Given the description of an element on the screen output the (x, y) to click on. 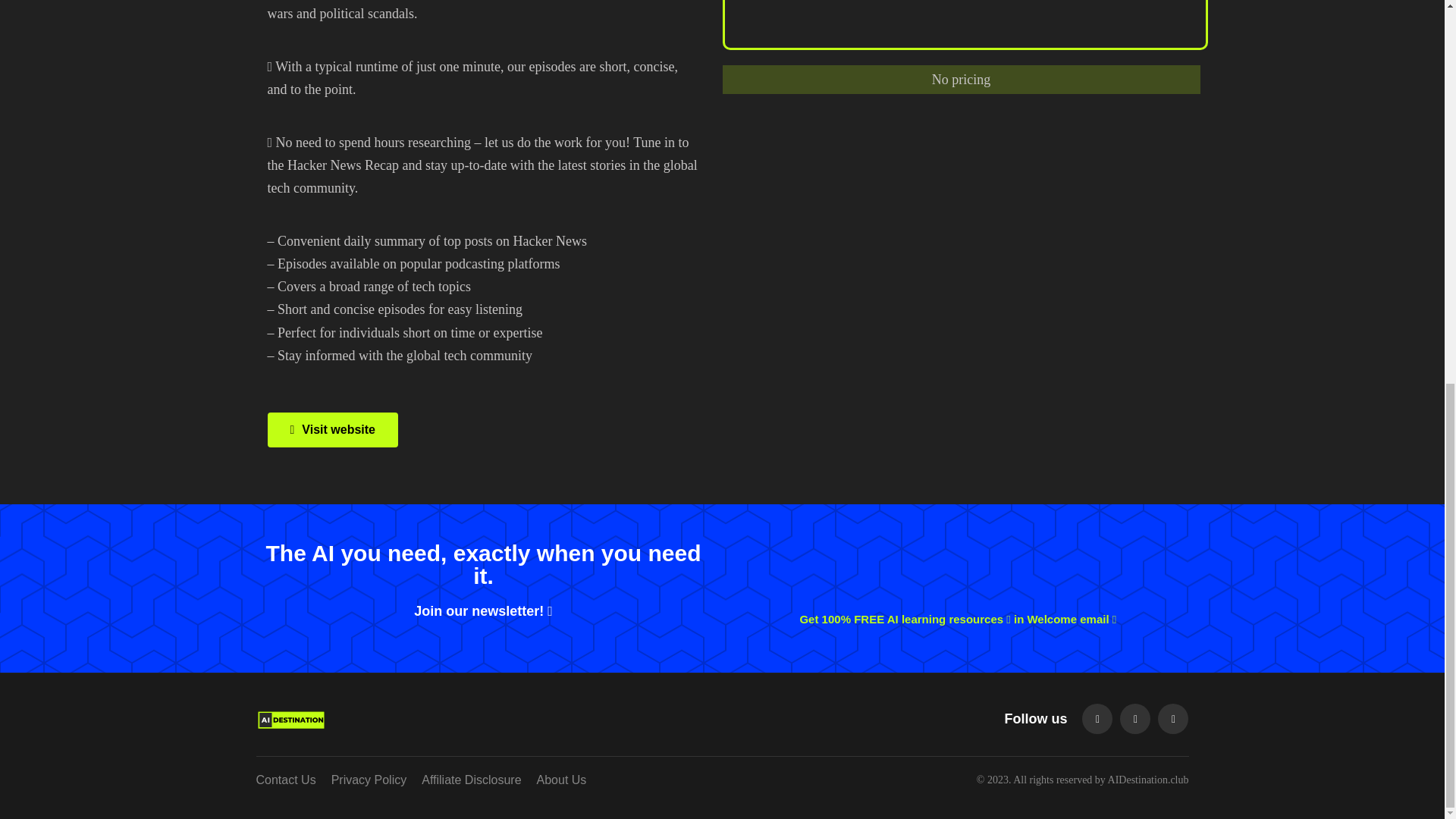
AI Destination (403, 718)
Linkedin-in (1096, 718)
Twitter (1134, 718)
Visit website (331, 429)
No pricing (960, 79)
Instagram (1172, 718)
